Given the description of an element on the screen output the (x, y) to click on. 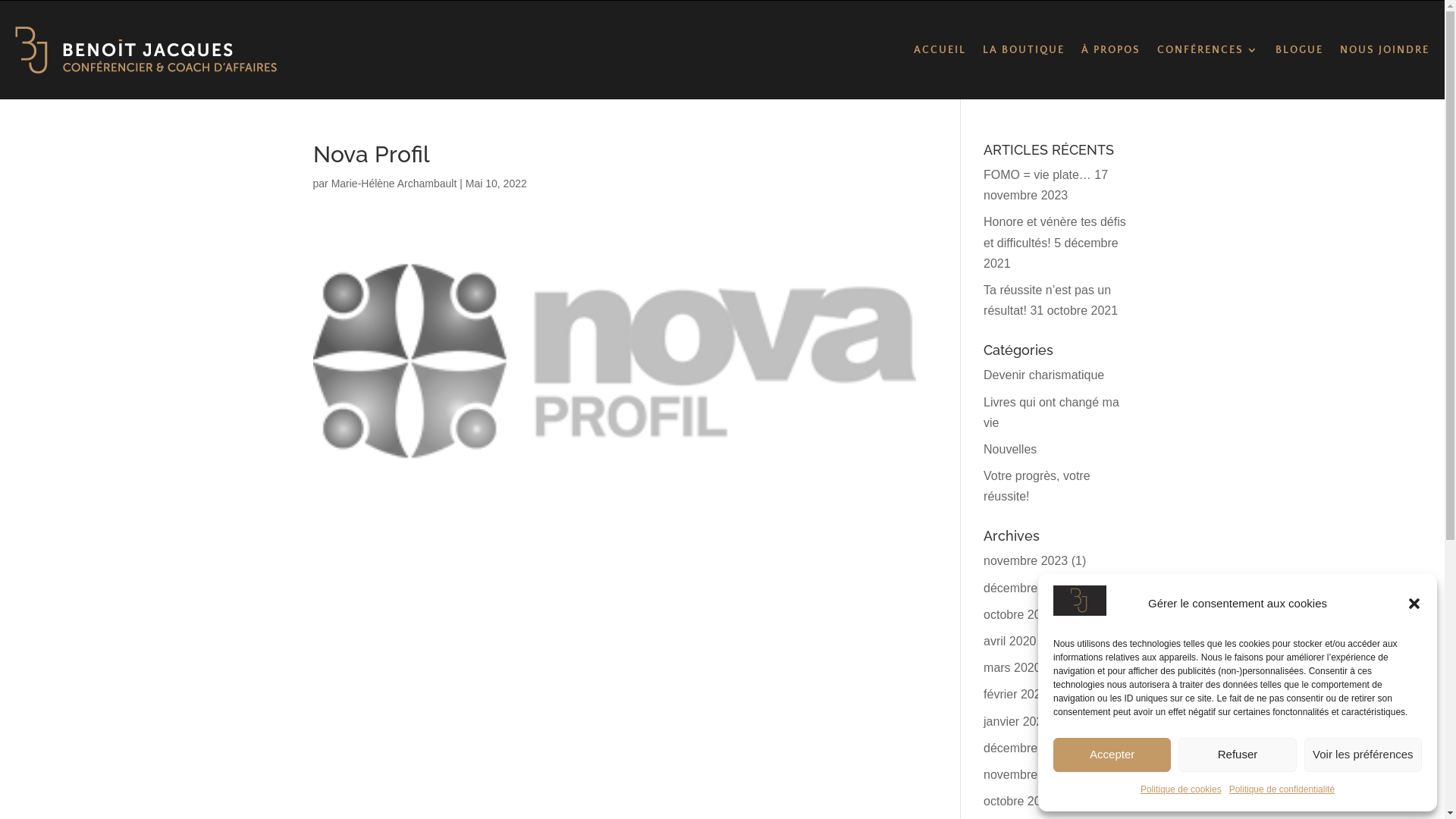
Accepter Element type: text (1111, 754)
octobre 2021 Element type: text (1018, 614)
LA BOUTIQUE Element type: text (1023, 49)
janvier 2020 Element type: text (1016, 721)
Nouvelles Element type: text (1009, 448)
BLOGUE Element type: text (1299, 49)
novembre 2023 Element type: text (1025, 560)
mars 2020 Element type: text (1012, 667)
novembre 2019 Element type: text (1025, 774)
Devenir charismatique Element type: text (1043, 374)
Politique de cookies Element type: text (1180, 789)
octobre 2019 Element type: text (1018, 800)
avril 2020 Element type: text (1009, 640)
ACCUEIL Element type: text (939, 49)
NOUS JOINDRE Element type: text (1384, 49)
Refuser Element type: text (1236, 754)
